Given the description of an element on the screen output the (x, y) to click on. 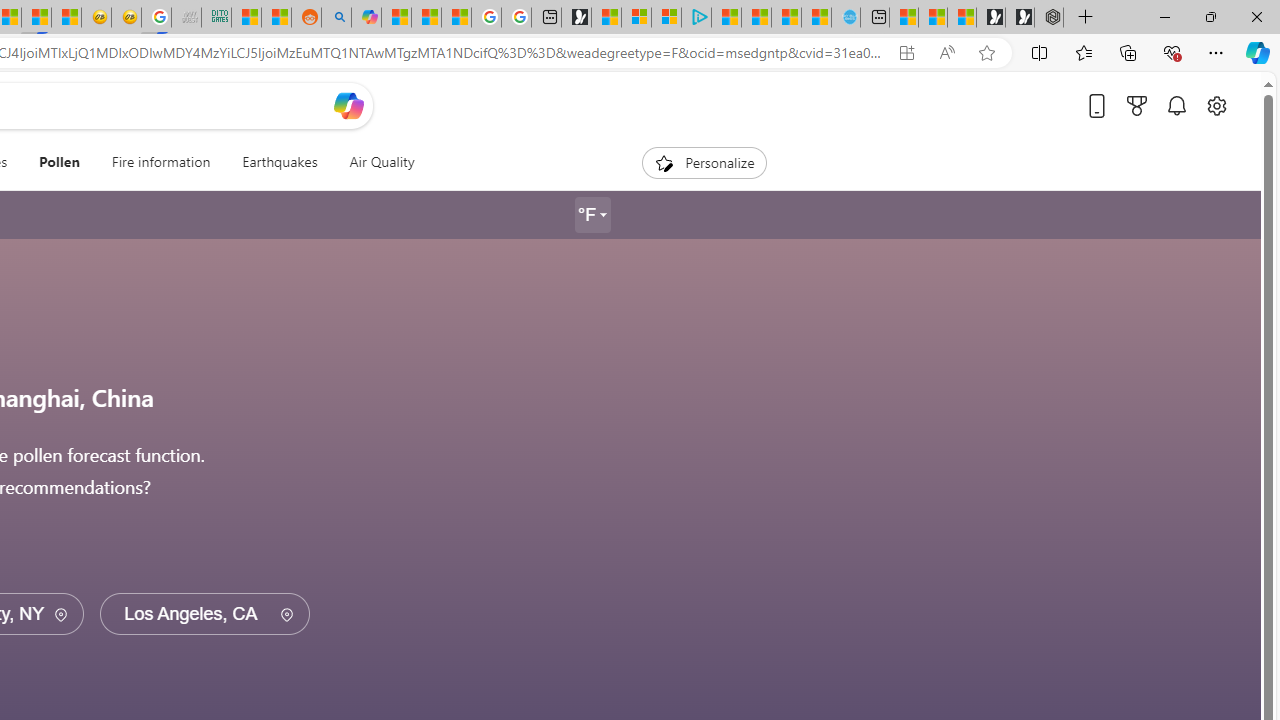
Los Angeles, CA (203, 614)
Pollen (58, 162)
App available. Install Microsoft Start Weather (906, 53)
